Given the description of an element on the screen output the (x, y) to click on. 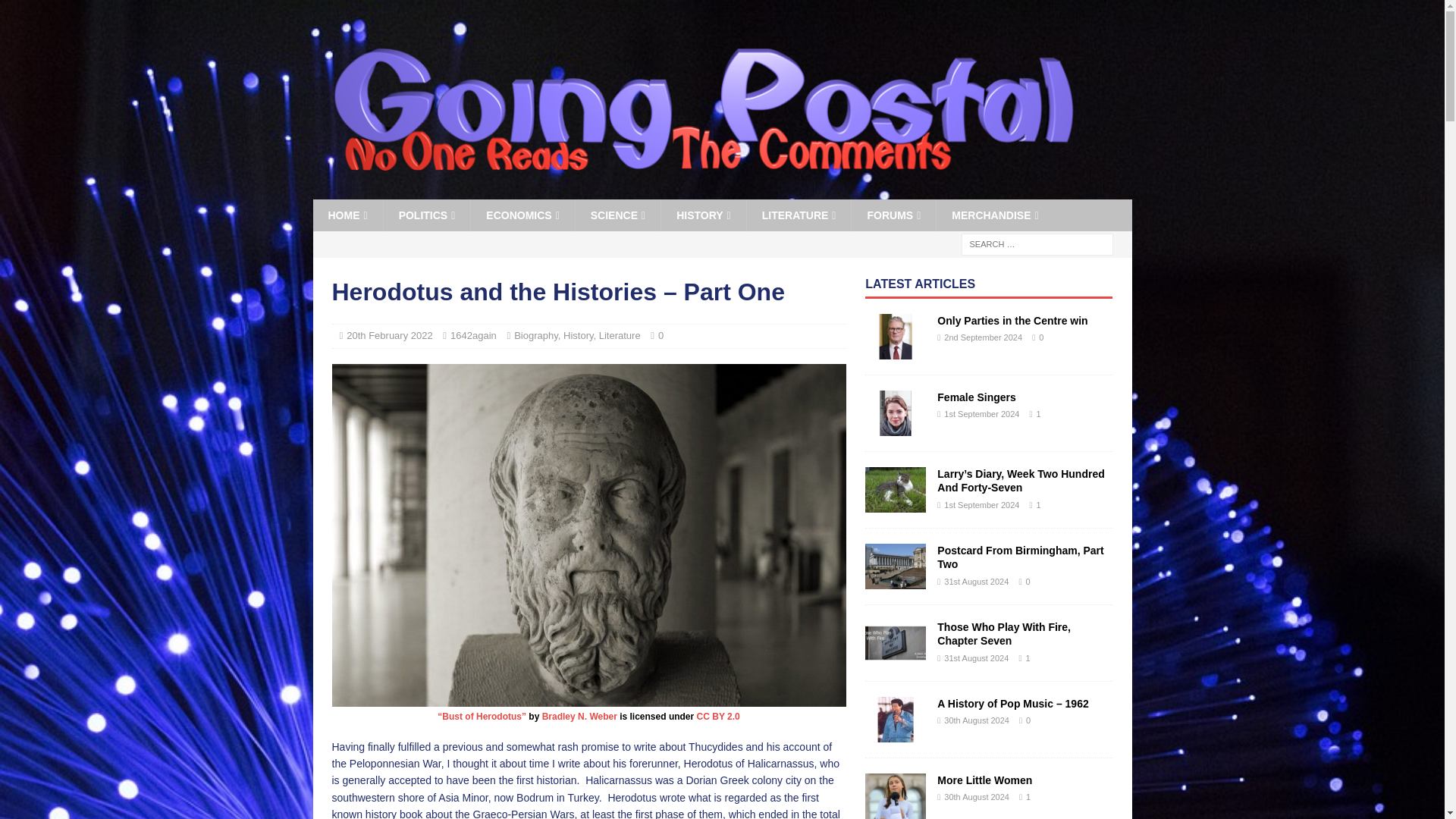
HOME (347, 214)
Only Parties in the Centre win (1012, 320)
Going Postal (703, 191)
Female Singers (895, 412)
SCIENCE (618, 214)
POLITICS (426, 214)
LITERATURE (798, 214)
HISTORY (703, 214)
Only Parties in the Centre win (895, 336)
ECONOMICS (521, 214)
